Given the description of an element on the screen output the (x, y) to click on. 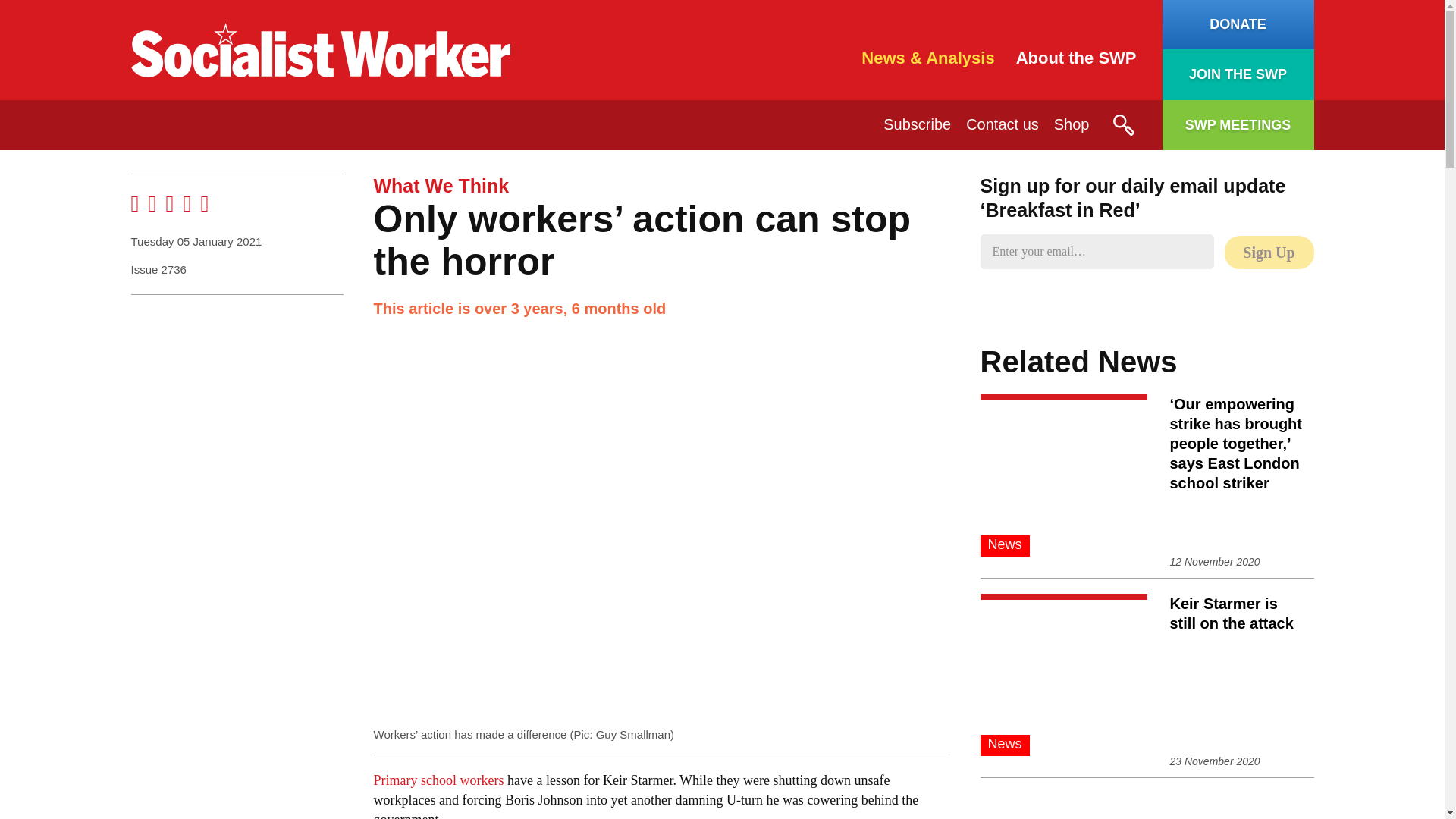
pdf download link (204, 203)
JOIN THE SWP (1237, 74)
About the SWP (1076, 57)
Sign Up (1268, 252)
whatsapp link (169, 203)
Submit (1123, 124)
Subscribe (916, 124)
twitter link (151, 203)
Contact us (1002, 124)
About the SWP (1076, 57)
DONATE (1237, 24)
Search Button (1123, 124)
print link (186, 203)
Shop (1071, 124)
